Given the description of an element on the screen output the (x, y) to click on. 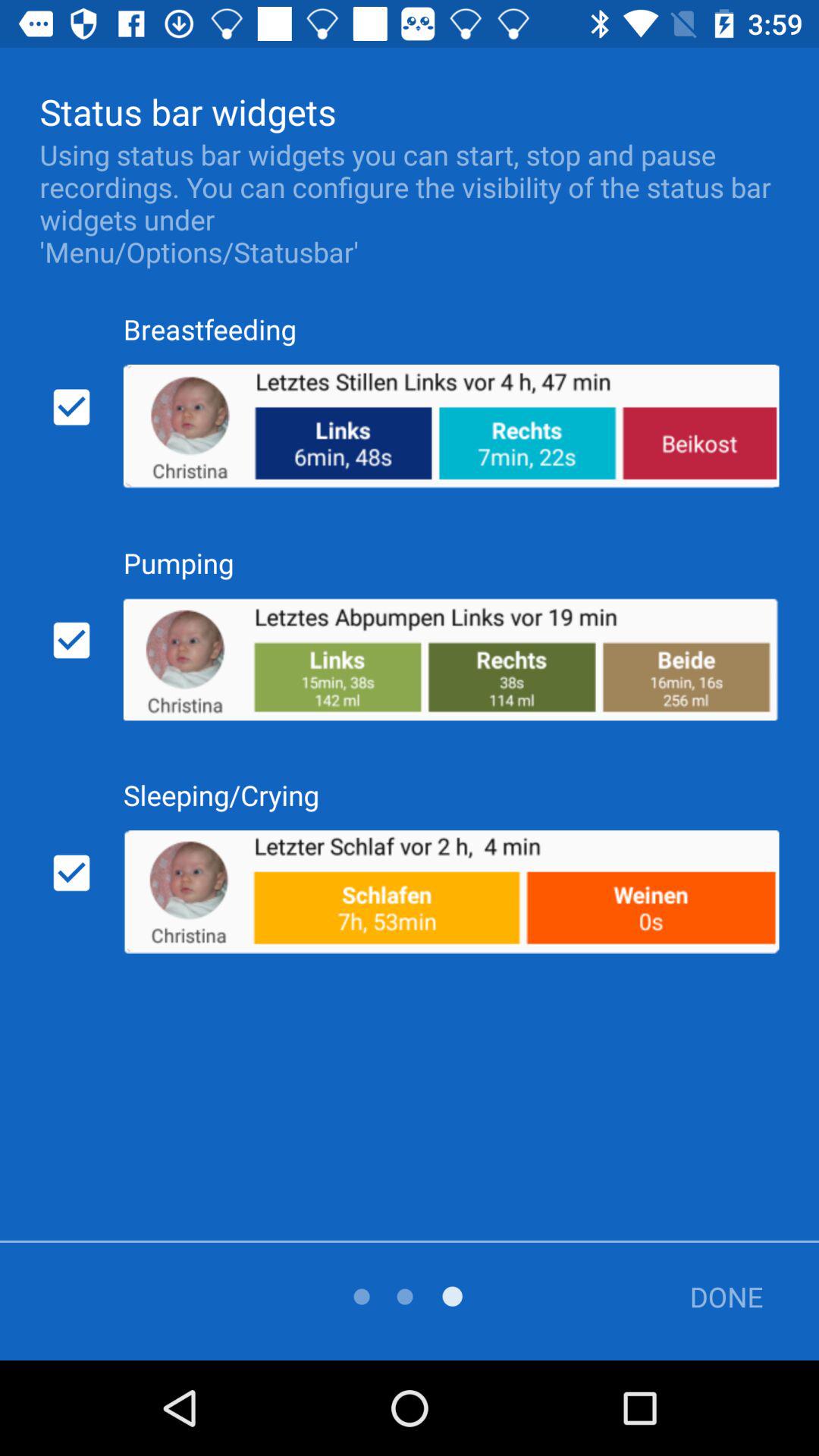
selected/ unselected option (71, 872)
